Given the description of an element on the screen output the (x, y) to click on. 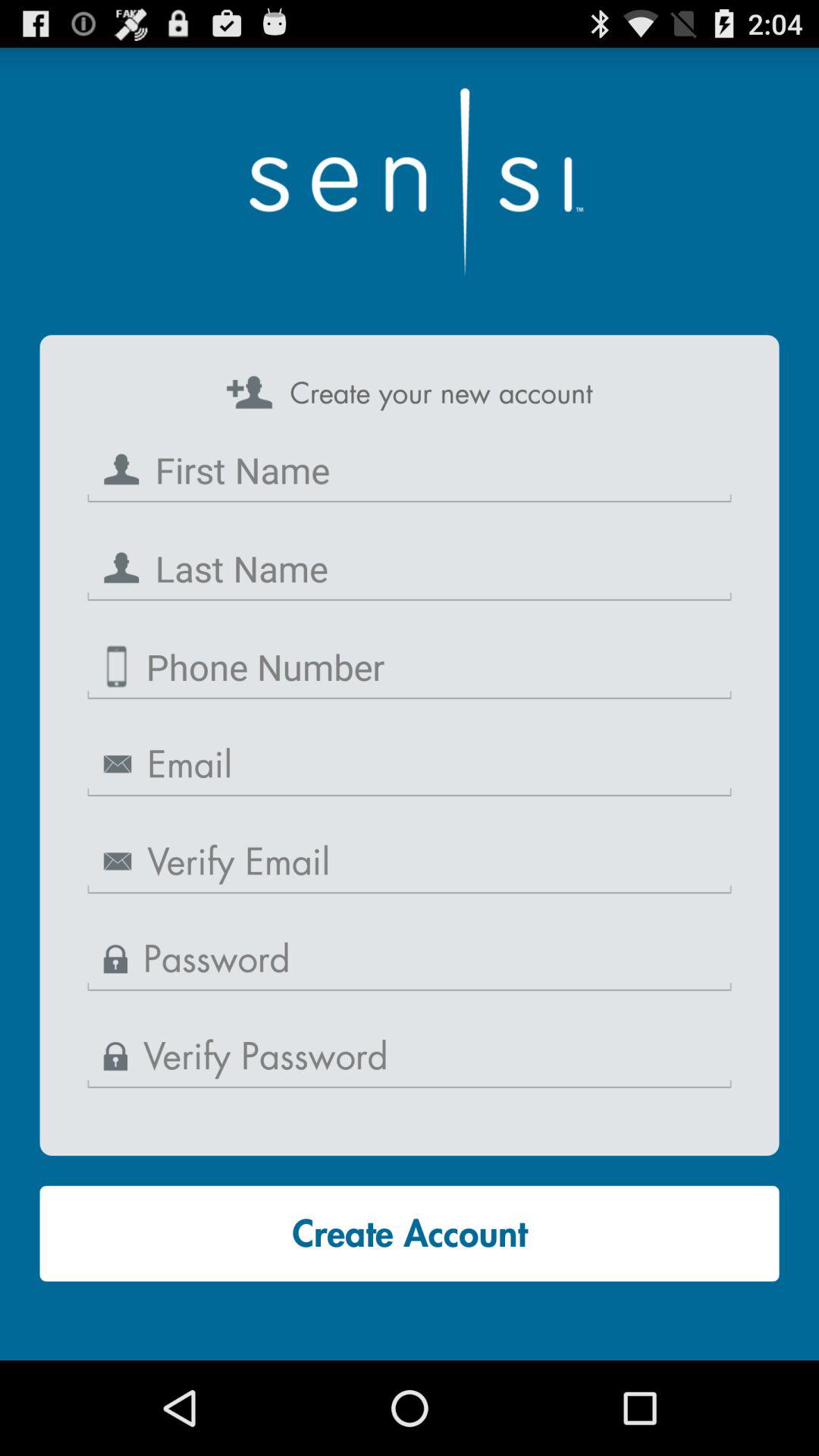
enter first name (409, 470)
